Given the description of an element on the screen output the (x, y) to click on. 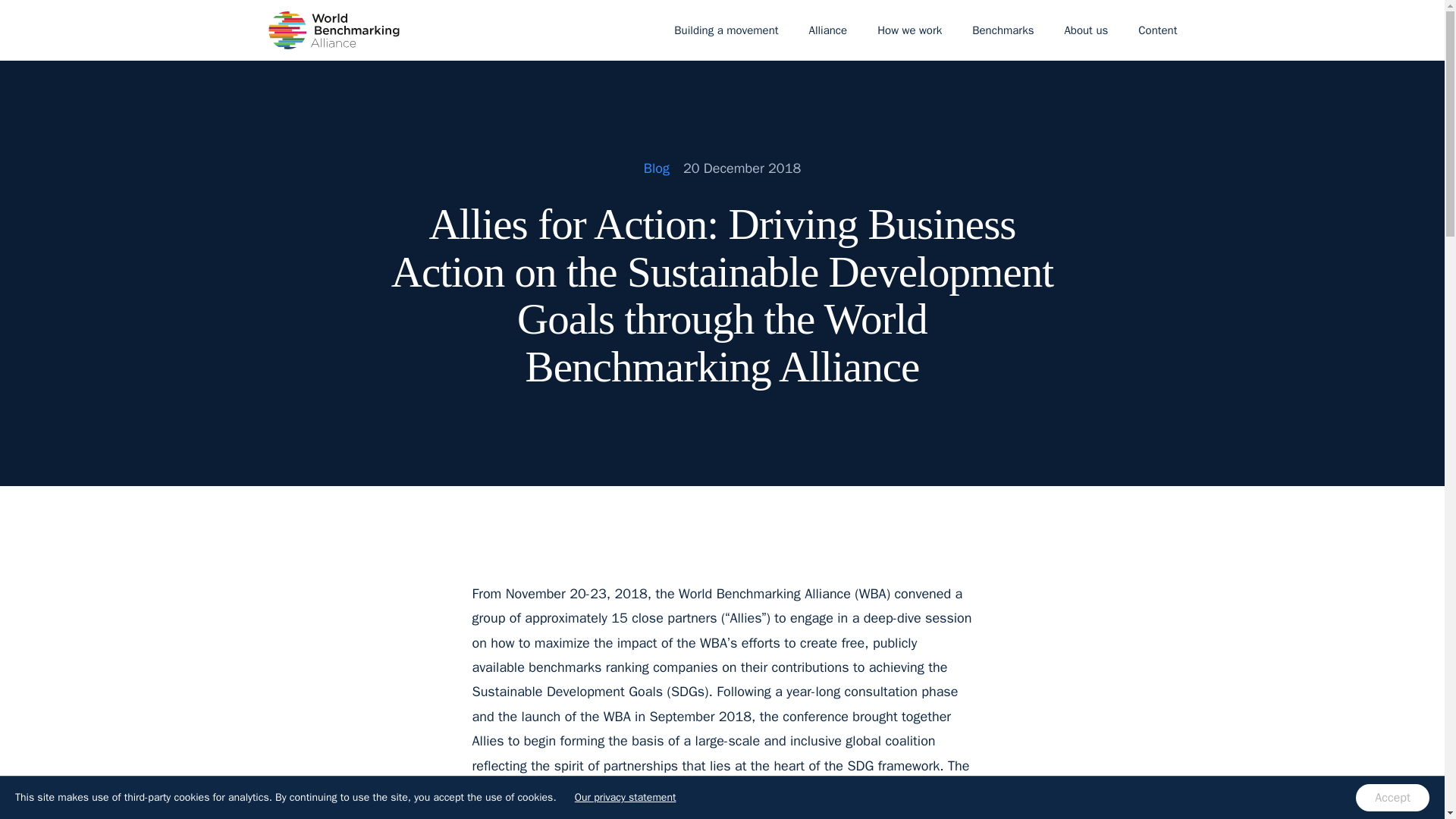
Benchmarks (1002, 30)
Alliance (828, 30)
Building a movement (726, 30)
About us (1085, 30)
How we work (908, 30)
